Given the description of an element on the screen output the (x, y) to click on. 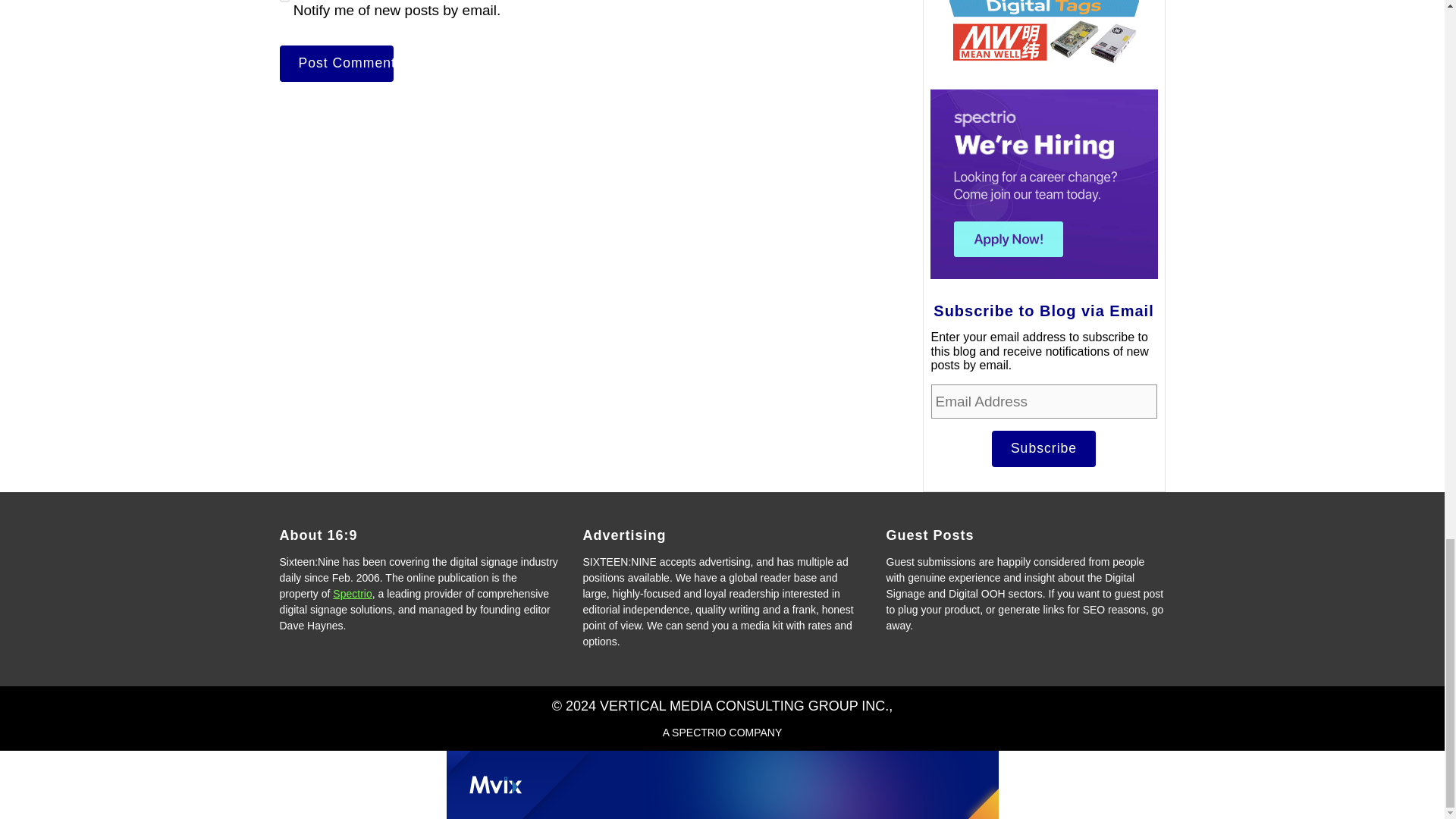
Subscribe (1043, 448)
Post Comment (336, 63)
Post Comment (336, 63)
A SPECTRIO COMPANY (721, 732)
Spectrio (352, 593)
